Given the description of an element on the screen output the (x, y) to click on. 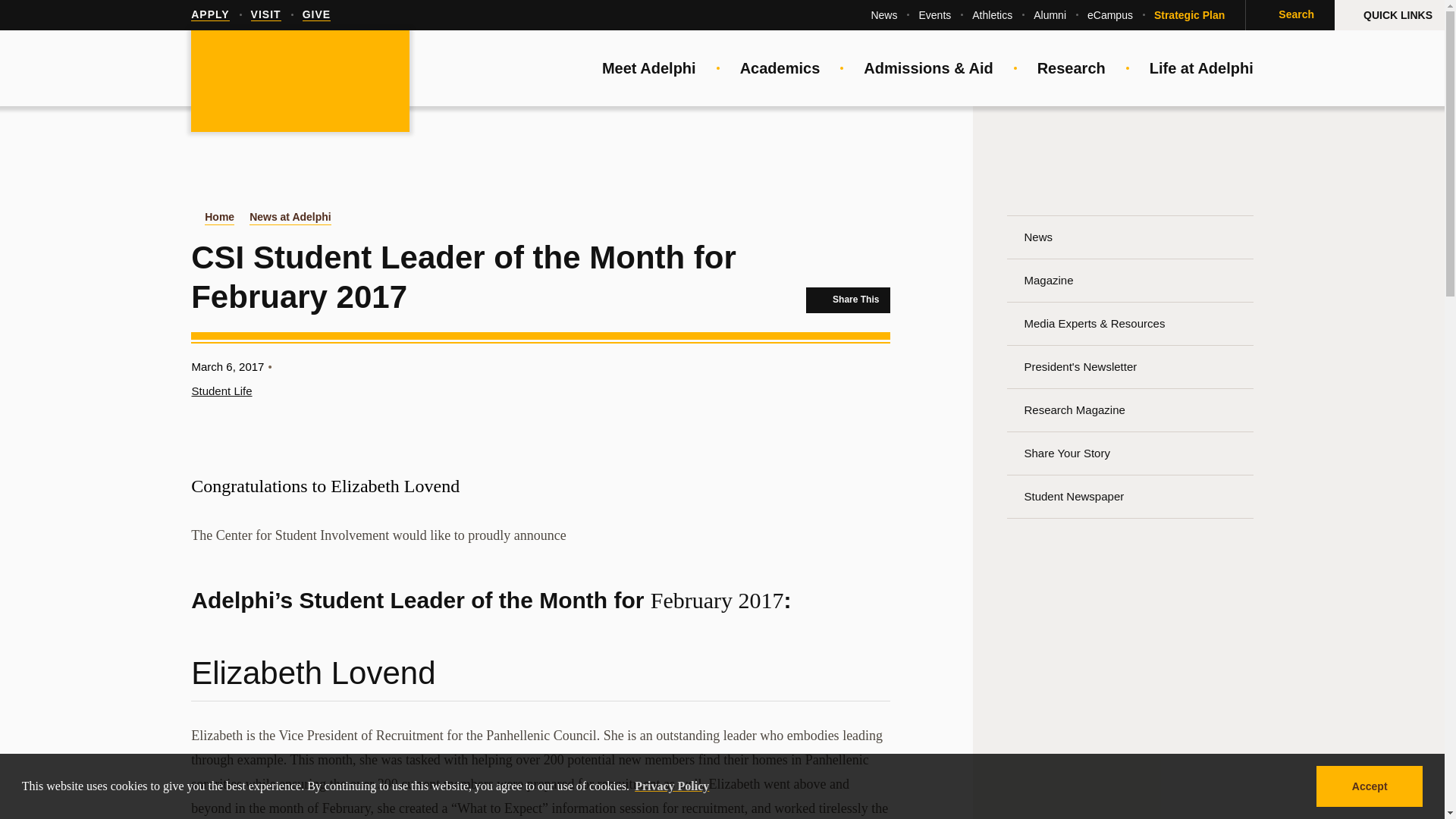
News (883, 15)
GIVE (316, 15)
VISIT (265, 15)
Events (934, 15)
Adelphi University (299, 82)
Strategic Plan (1189, 15)
Search (1289, 15)
eCampus (1109, 15)
Alumni (1049, 15)
Meet Adelphi (648, 68)
Privacy Policy (671, 786)
Accept (1369, 785)
Athletics (991, 15)
APPLY (209, 15)
Academics (780, 68)
